Given the description of an element on the screen output the (x, y) to click on. 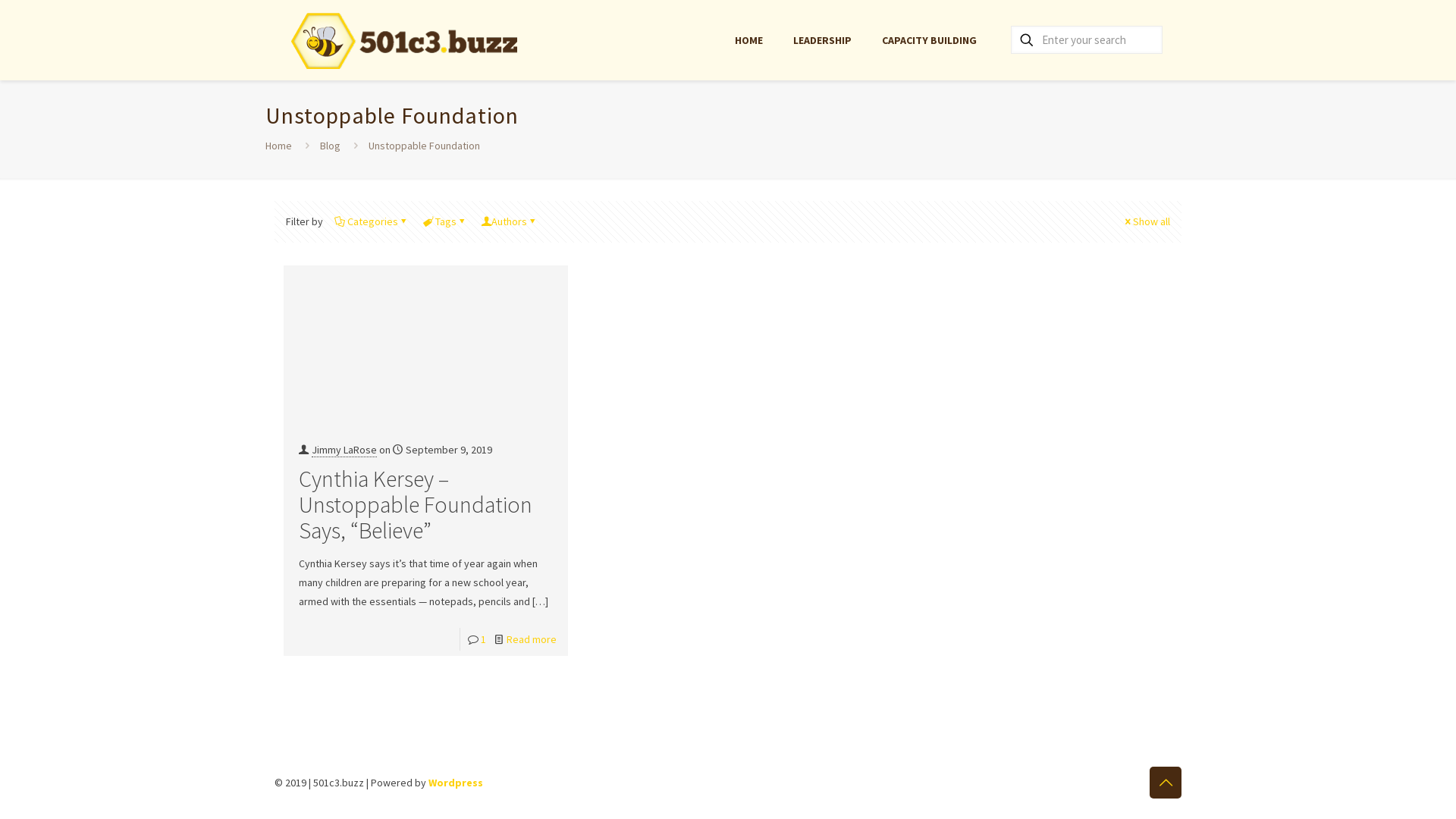
Read more Element type: text (531, 639)
Categories Element type: text (372, 221)
501c3.buzz Element type: hover (403, 39)
Show all Element type: text (1146, 221)
Authors Element type: text (508, 221)
CAPACITY BUILDING Element type: text (928, 39)
Home Element type: text (278, 145)
Jimmy LaRose Element type: text (343, 449)
Wordpress Element type: text (455, 782)
LEADERSHIP Element type: text (822, 39)
Blog Element type: text (330, 145)
HOME Element type: text (748, 39)
1 Element type: text (483, 639)
Tags Element type: text (445, 221)
